Given the description of an element on the screen output the (x, y) to click on. 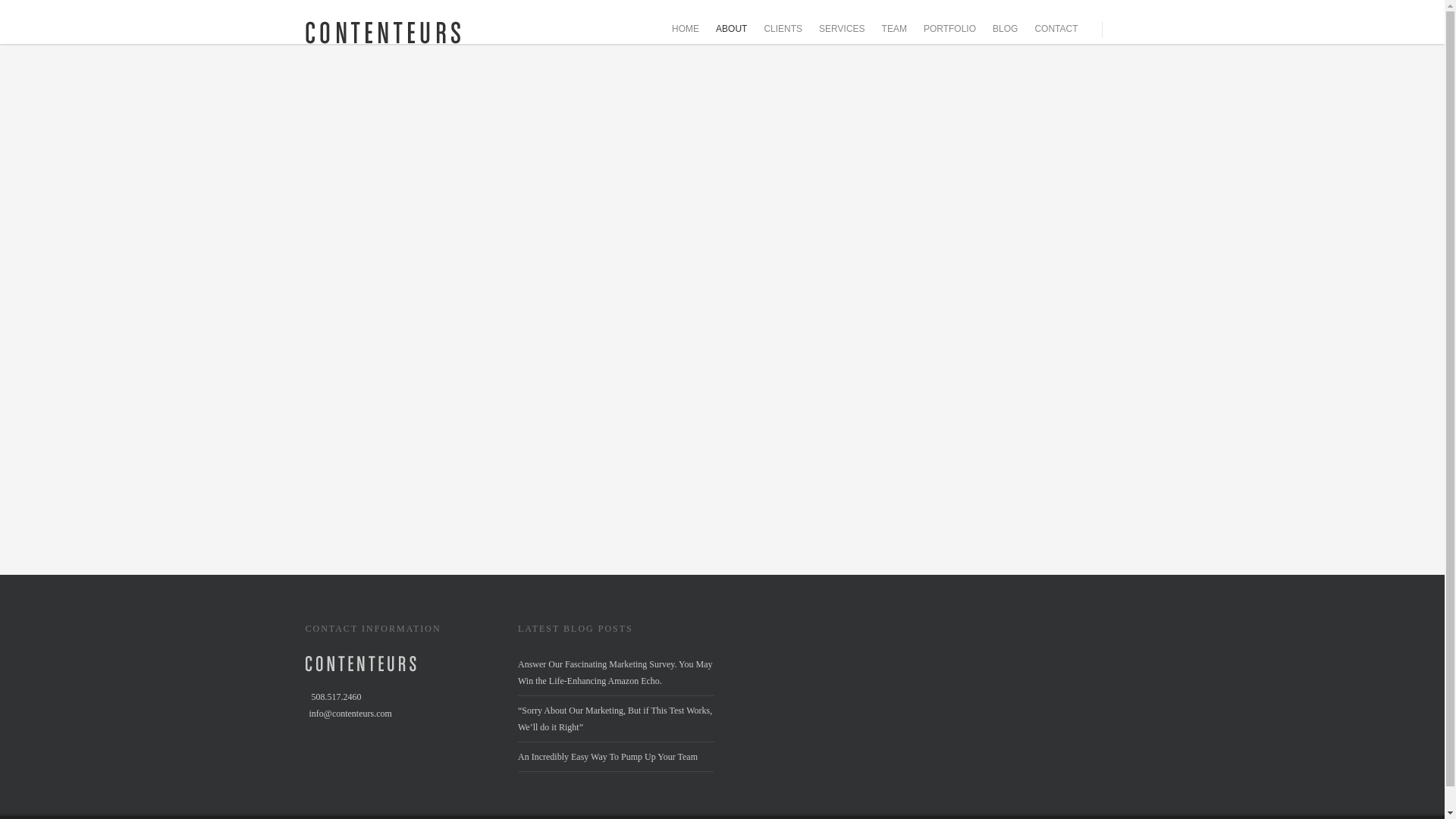
BLOG (1005, 28)
HOME (684, 28)
SERVICES (841, 28)
CONTACT (1055, 28)
An Incredibly Easy Way To Pump Up Your Team (607, 756)
ABOUT (730, 28)
CLIENTS (782, 28)
TEAM (894, 28)
PORTFOLIO (949, 28)
